Given the description of an element on the screen output the (x, y) to click on. 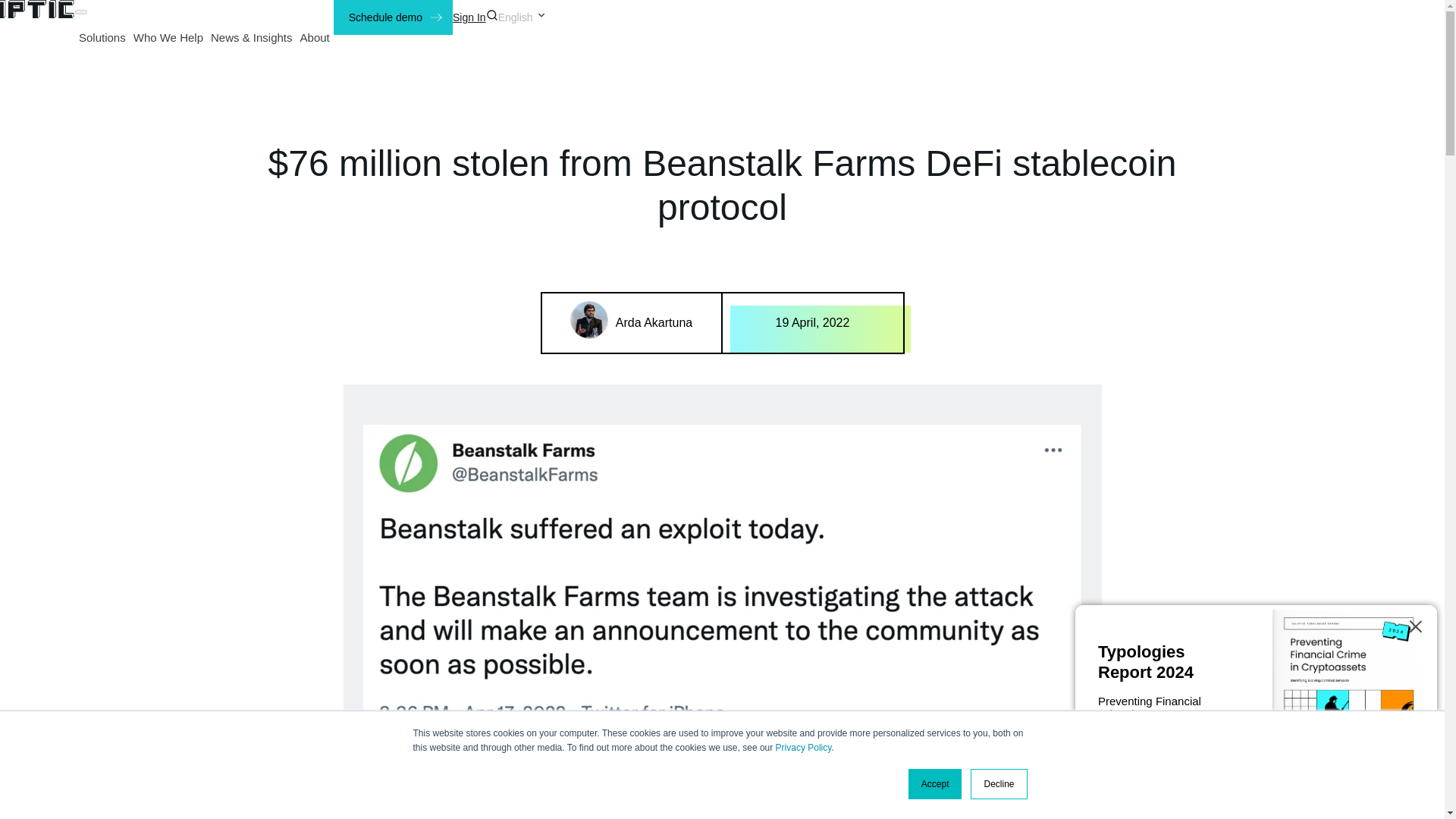
Who We Help (168, 37)
Accept (935, 784)
Solutions (101, 37)
Decline (998, 784)
Popup CTA (1256, 708)
Privacy Policy (803, 747)
